Given the description of an element on the screen output the (x, y) to click on. 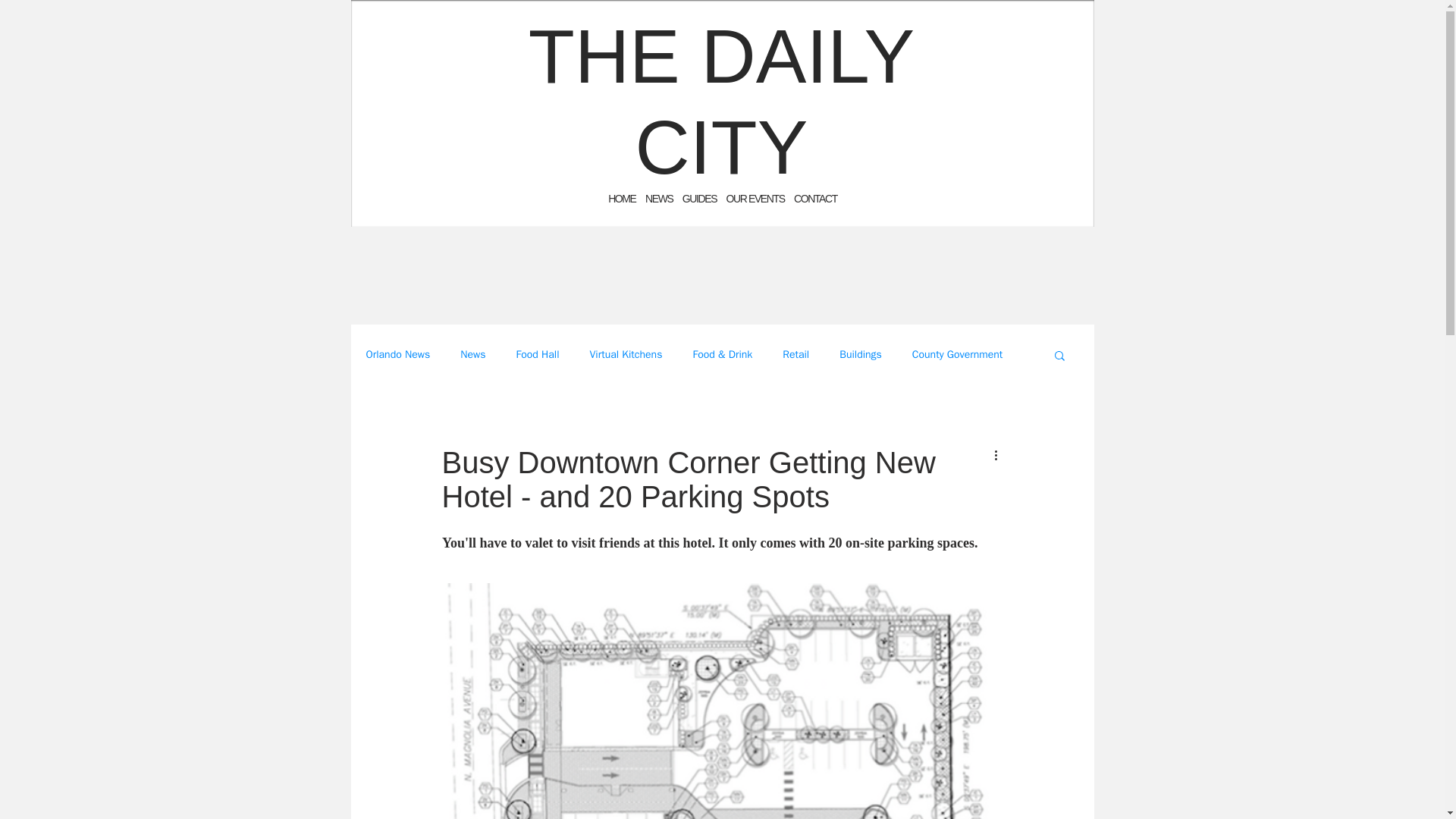
Retail (796, 354)
NEWS (658, 198)
Virtual Kitchens (625, 354)
Buildings (861, 354)
Orlando News (397, 354)
GUIDES (699, 198)
THE DAILY CITY (721, 101)
OUR EVENTS (755, 198)
Food Hall (537, 354)
County Government (957, 354)
HOME (621, 198)
News (472, 354)
CONTACT (815, 198)
